Given the description of an element on the screen output the (x, y) to click on. 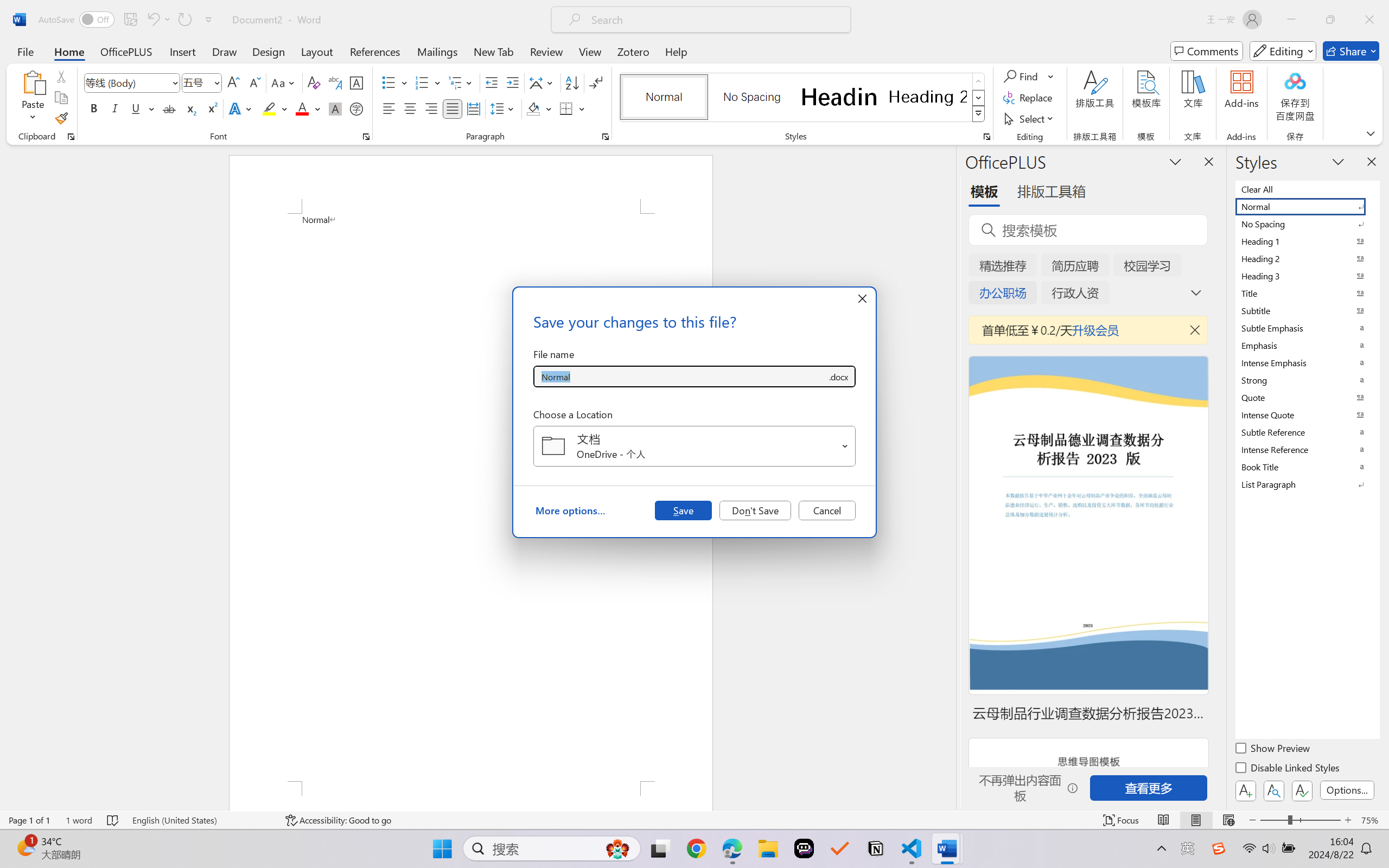
Italic (115, 108)
Subtle Reference (1306, 431)
Font Size (196, 82)
Strikethrough (169, 108)
Font Color (308, 108)
Format Painter (60, 118)
Emphasis (1306, 345)
OfficePLUS (126, 51)
Class: Image (1218, 847)
